Given the description of an element on the screen output the (x, y) to click on. 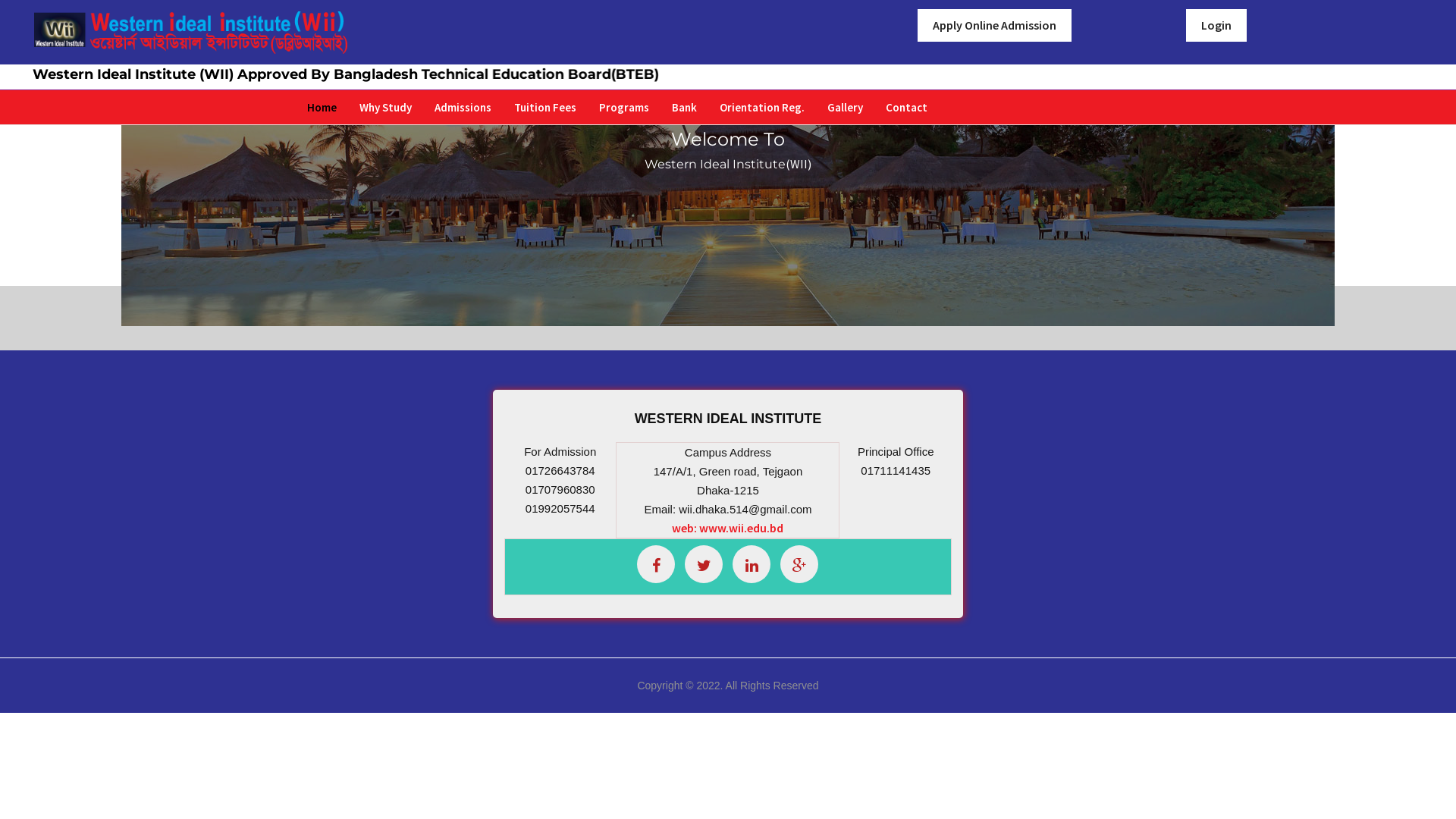
Apply Online Admission Element type: text (994, 25)
Tuition Fees Element type: text (544, 107)
Gallery Element type: text (844, 107)
Why Study Element type: text (385, 107)
Contact Element type: text (906, 107)
Admissions Element type: text (462, 107)
Programs Element type: text (623, 107)
Login Element type: text (1216, 25)
Home Element type: text (321, 107)
Bank Element type: text (684, 107)
web: www.wii.edu.bd Element type: text (727, 527)
Orientation Reg. Element type: text (761, 107)
